Given the description of an element on the screen output the (x, y) to click on. 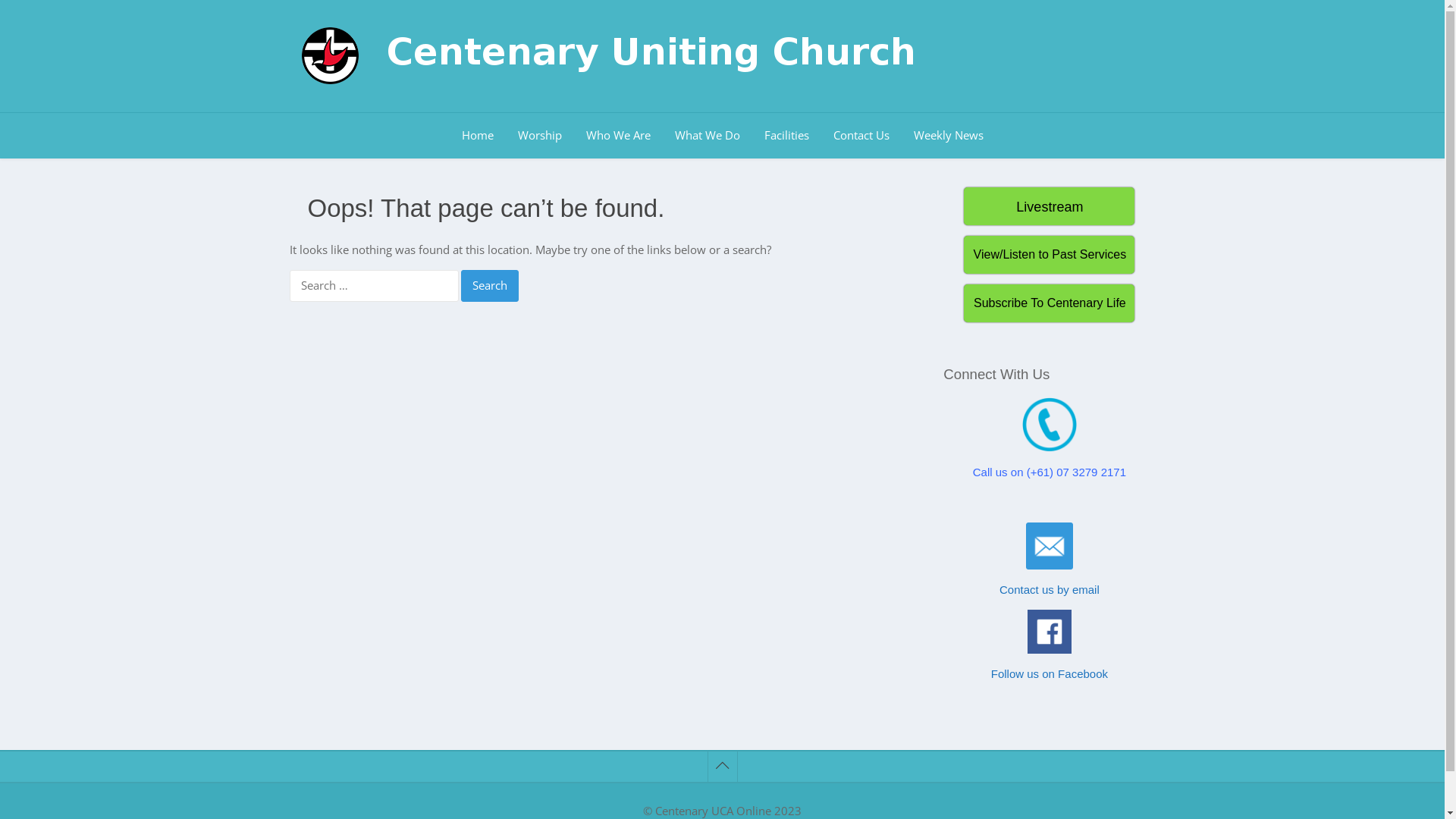
Facilities Element type: text (786, 135)
Weekly News Element type: text (947, 135)
Follow us on Facebook Element type: text (1049, 673)
Worship Element type: text (538, 135)
Who We Are Element type: text (617, 135)
Livestream Element type: text (1048, 205)
What We Do Element type: text (707, 135)
Home Element type: text (476, 135)
Skip to content Element type: text (0, 0)
Search Element type: text (489, 285)
Subscribe To Centenary Life Element type: text (1048, 302)
View/Listen to Past Services Element type: text (1048, 254)
Contact Us Element type: text (860, 135)
Contact us by email Element type: text (1049, 589)
